Given the description of an element on the screen output the (x, y) to click on. 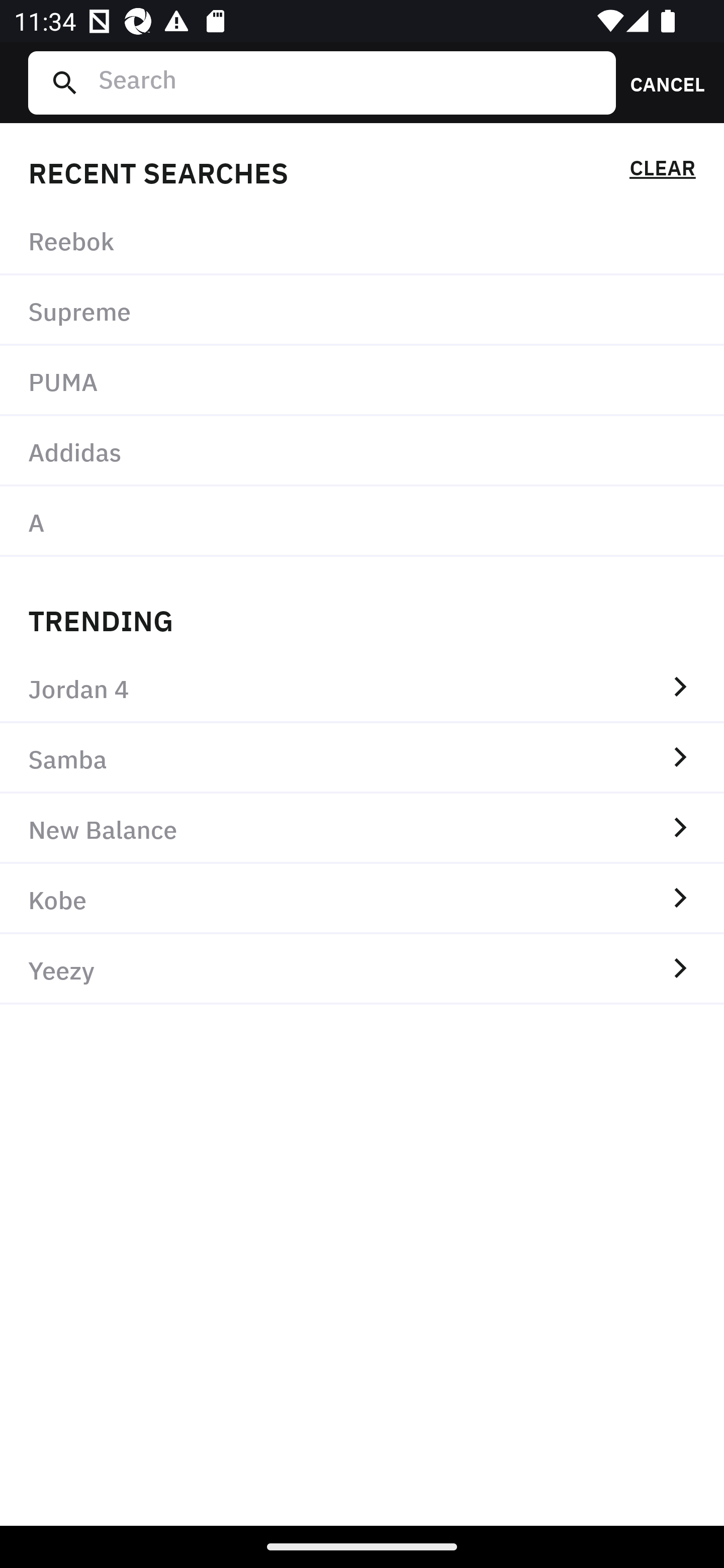
CANCEL (660, 82)
Search (349, 82)
CLEAR (662, 170)
Reebok (362, 240)
Supreme (362, 310)
PUMA (362, 380)
Addidas (362, 450)
A (362, 521)
Jordan 4  (362, 687)
Samba  (362, 757)
New Balance  (362, 828)
Kobe  (362, 898)
Yeezy  (362, 969)
